Given the description of an element on the screen output the (x, y) to click on. 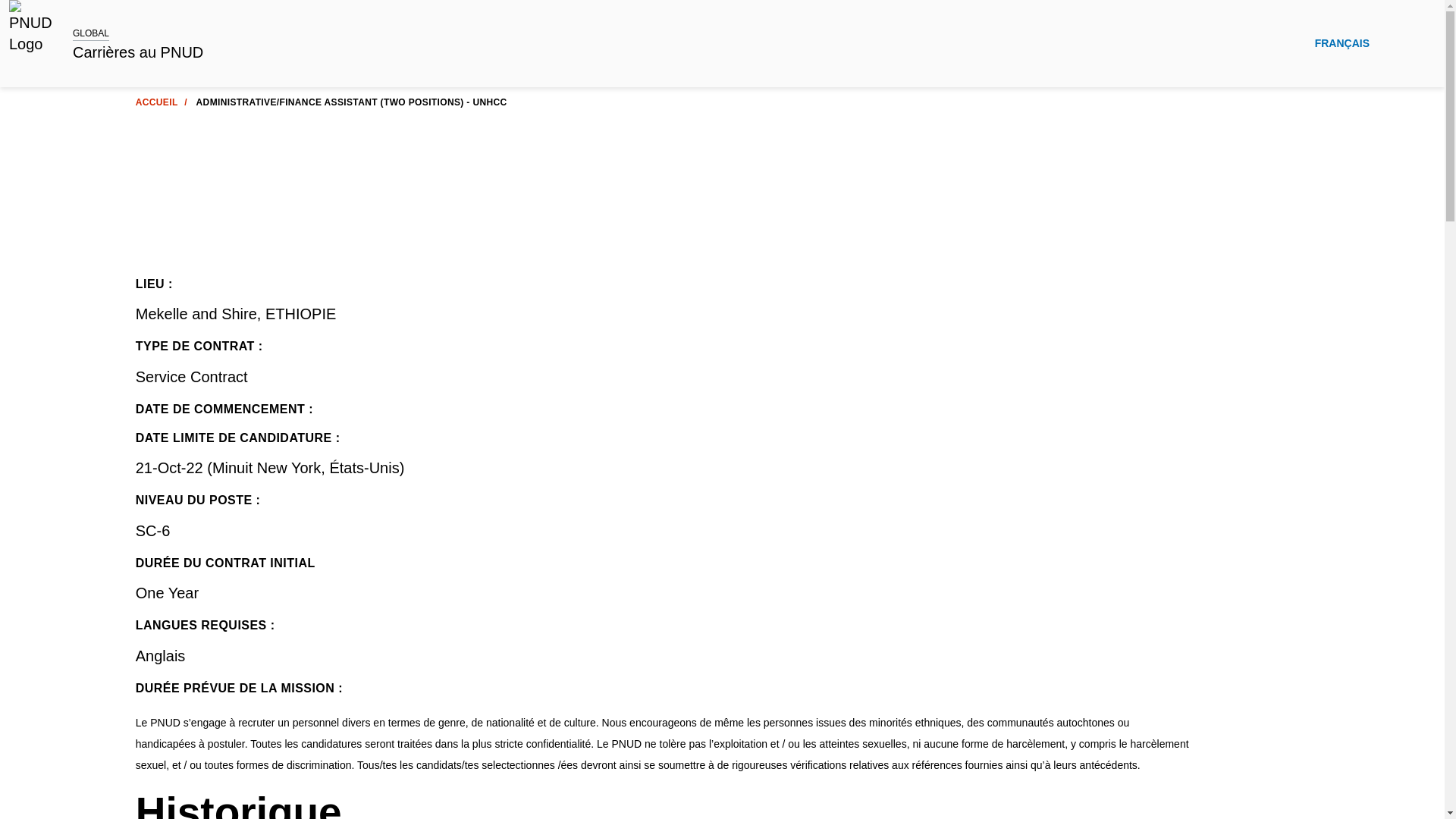
GLOBAL (90, 32)
ACCUEIL (156, 102)
